Given the description of an element on the screen output the (x, y) to click on. 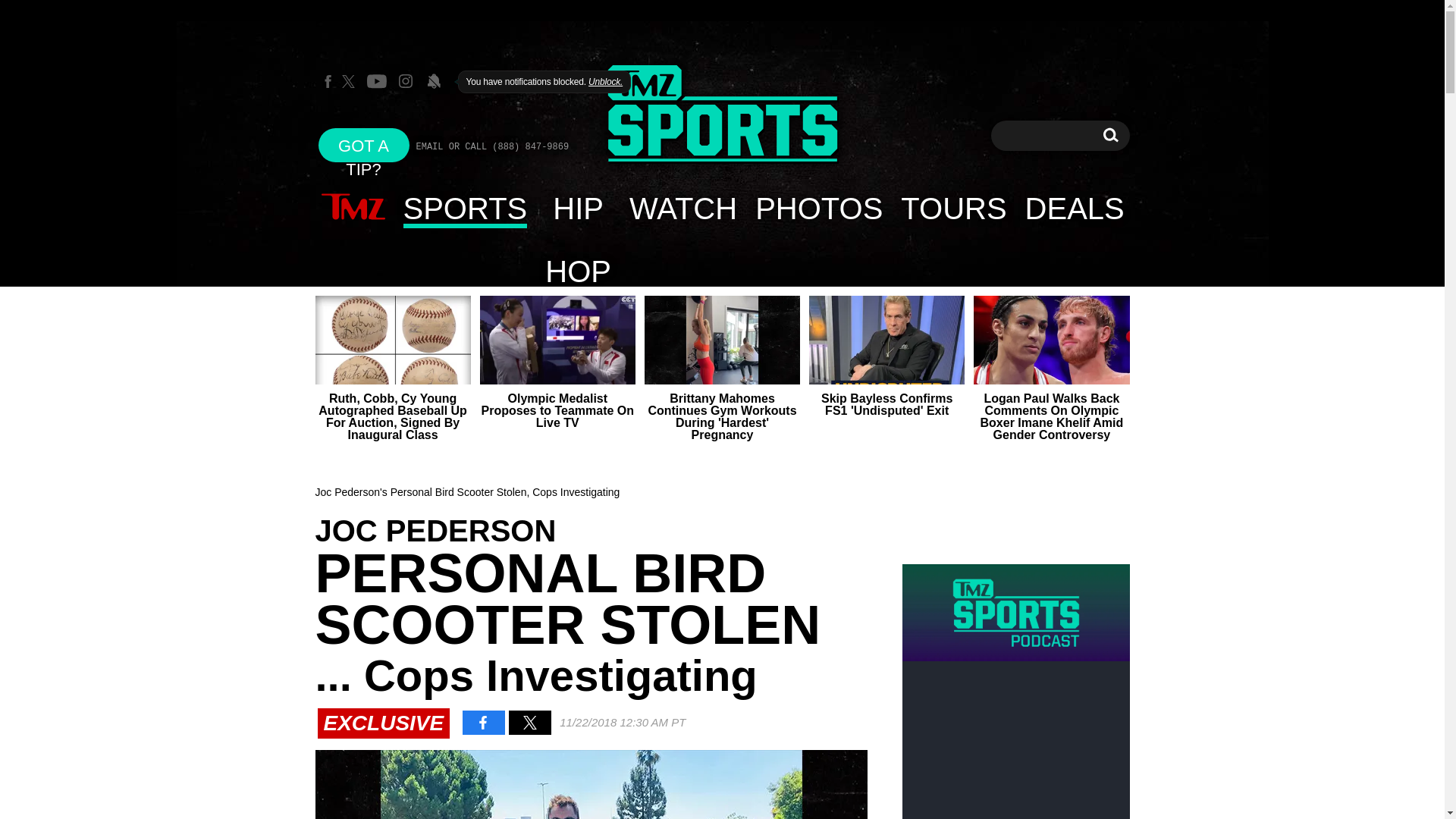
DEALS (1075, 207)
TMZ Sports (722, 115)
WATCH (682, 207)
GOT A TIP? (363, 144)
SPORTS (465, 207)
Search (1110, 134)
TOURS (952, 207)
HIP HOP (577, 207)
PHOTOS (818, 207)
NEWS (353, 207)
TMZ Sports (722, 113)
